Given the description of an element on the screen output the (x, y) to click on. 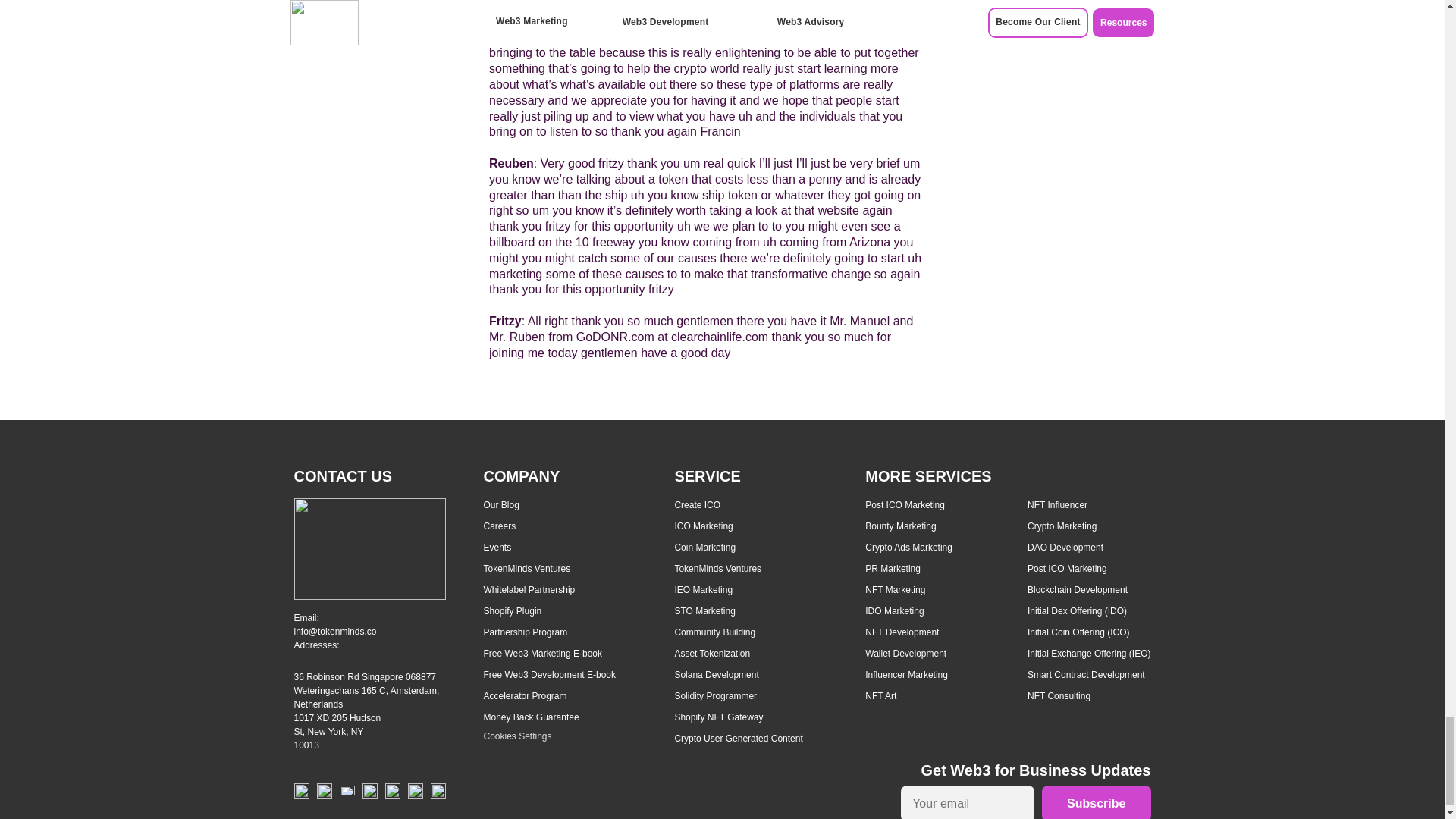
IDO Marketing (893, 611)
Shopify NFT Gateway (718, 716)
Free Web3 Marketing E-book (542, 653)
Careers (499, 525)
NFT Marketing (894, 589)
Cookies Settings (517, 736)
TokenMinds Ventures (526, 568)
Crypto Ads Marketing (908, 547)
Solidity Programmer (715, 696)
Post ICO Marketing (904, 504)
